Given the description of an element on the screen output the (x, y) to click on. 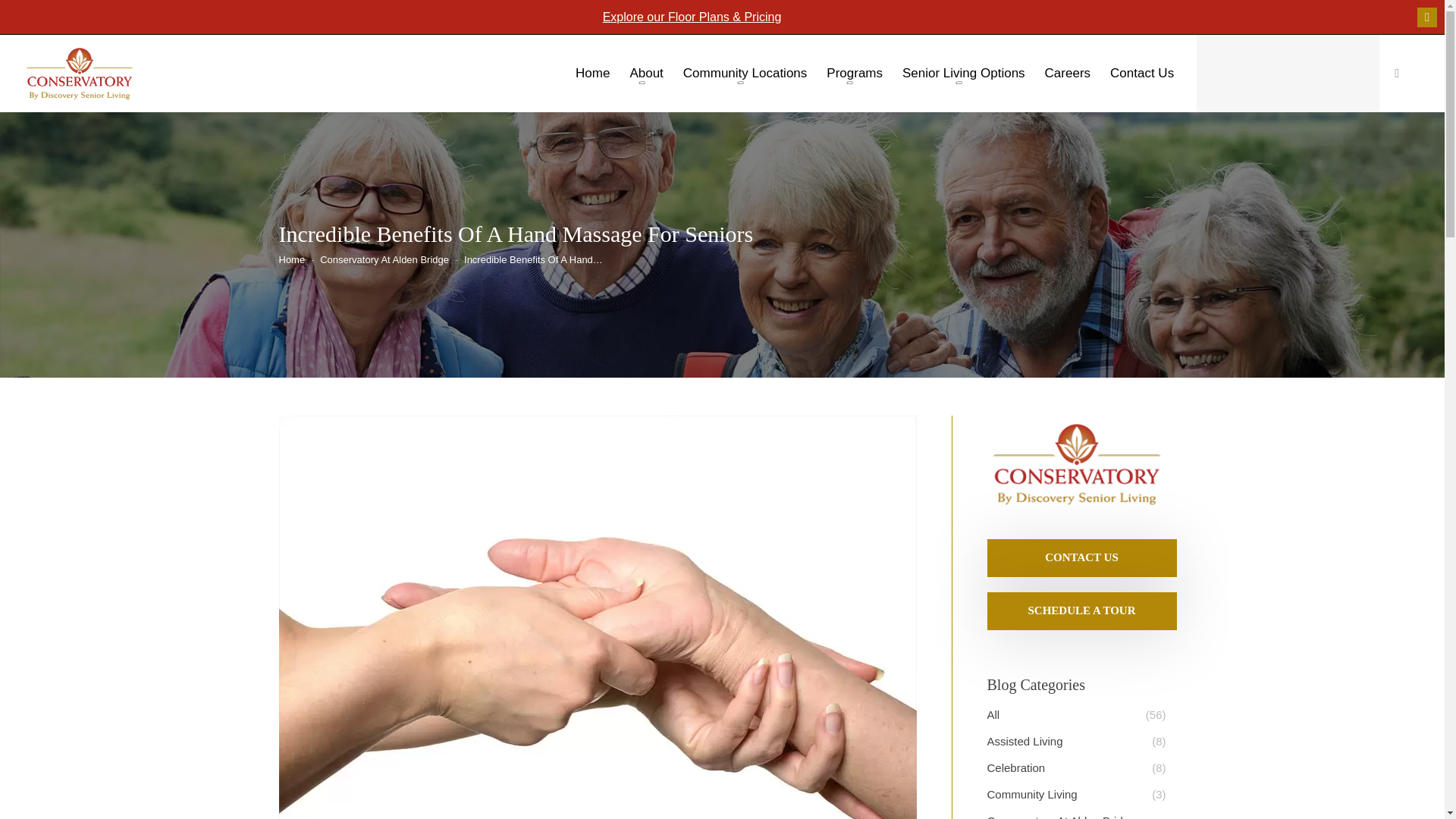
Conservatory-Parent-logo-250x136 (1076, 463)
Senior Living Options (963, 77)
Community Locations (744, 77)
Facebook page opens in new window (1426, 17)
Go! (24, 15)
Contact Us (1141, 77)
Schedule A Tour (1081, 609)
Facebook page opens in new window (1426, 17)
Contact Us (1081, 556)
